Given the description of an element on the screen output the (x, y) to click on. 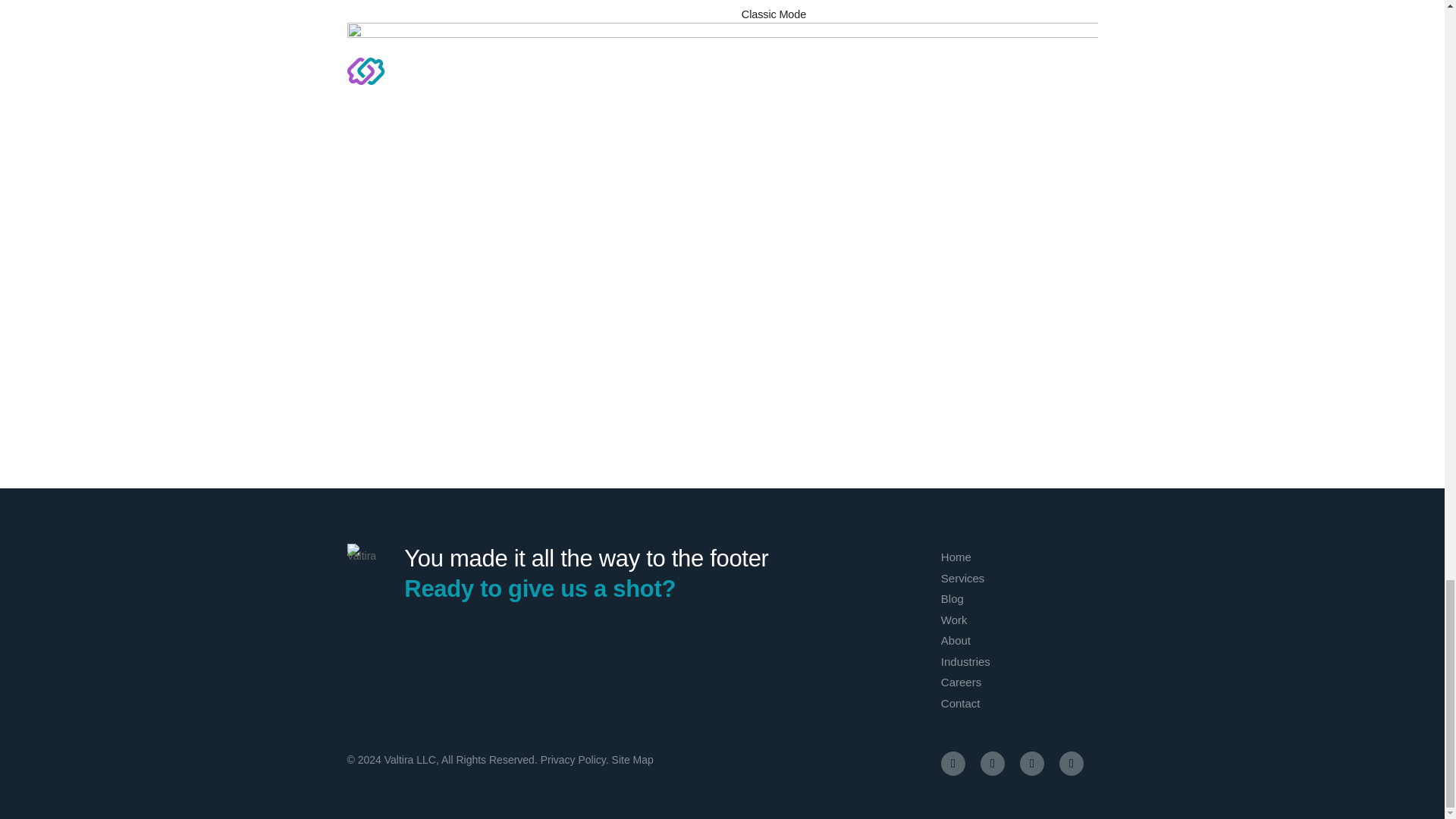
Contact (959, 703)
Blog (951, 598)
Industries (965, 661)
Site Map (632, 759)
Work (954, 620)
Ready to give us a shot? (539, 588)
About (955, 640)
Follow on Instagram (991, 763)
Services (962, 578)
